Given the description of an element on the screen output the (x, y) to click on. 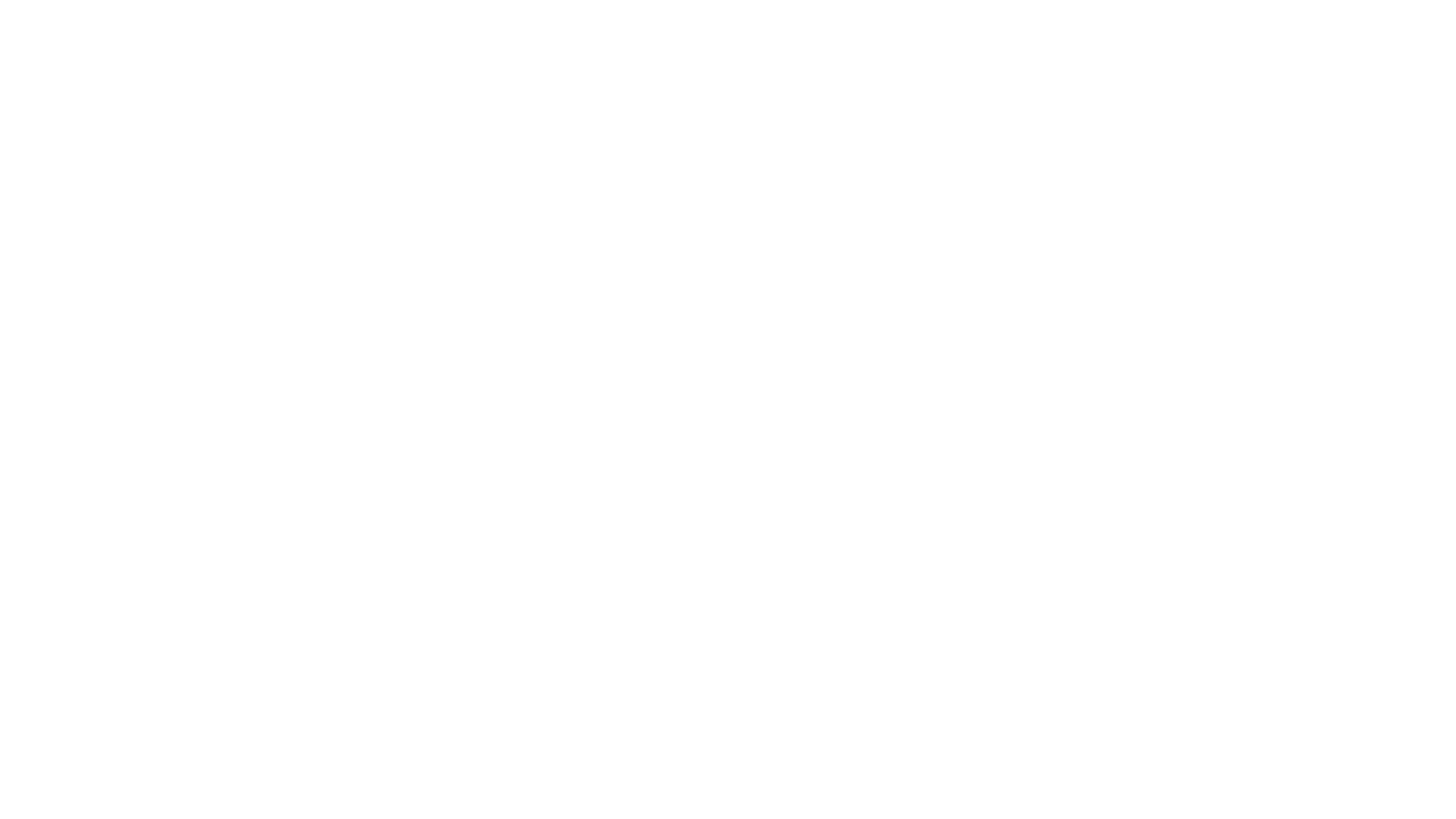
Facebook Element type: text (763, 574)
Instagram Element type: text (677, 574)
bookings@fervor.com.au Element type: text (920, 531)
